Given the description of an element on the screen output the (x, y) to click on. 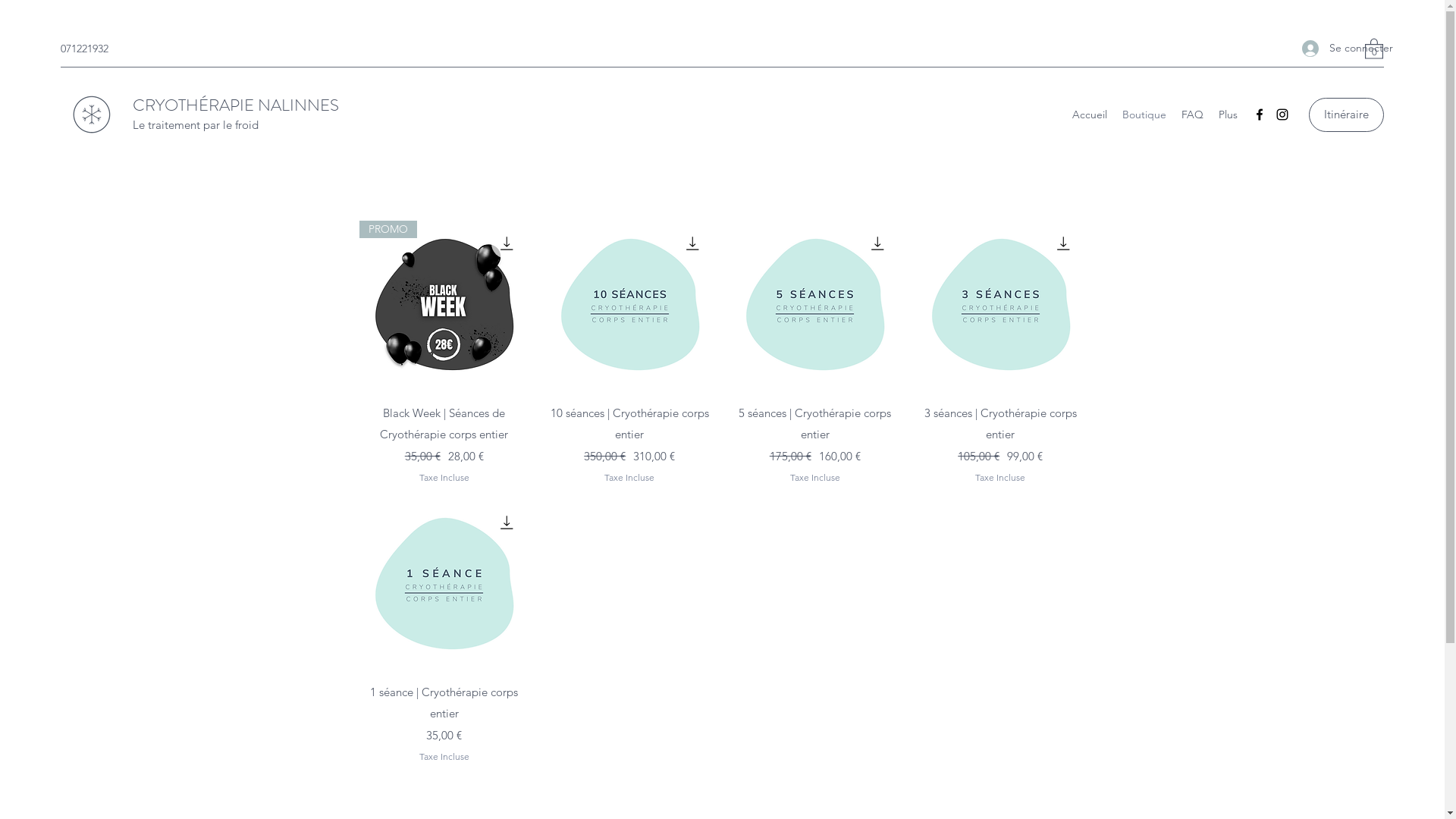
0 Element type: text (1374, 48)
PROMO Element type: text (444, 305)
Se connecter Element type: text (1325, 48)
FAQ Element type: text (1192, 114)
Boutique Element type: text (1143, 114)
Accueil Element type: text (1089, 114)
